Given the description of an element on the screen output the (x, y) to click on. 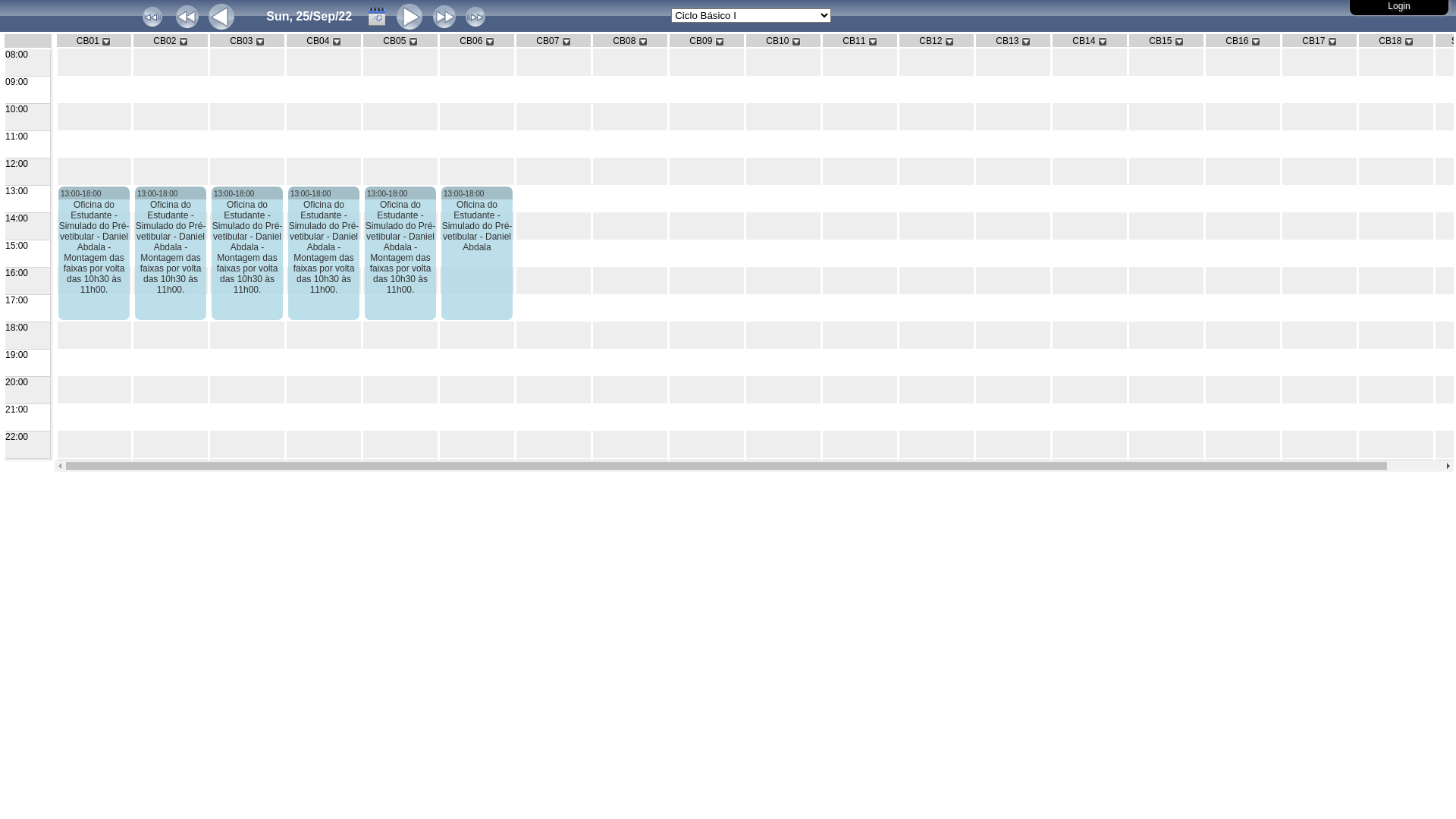
Semana Anterior Element type: hover (186, 16)
Dia Anterior Element type: hover (221, 16)
... Element type: hover (376, 16)
